Given the description of an element on the screen output the (x, y) to click on. 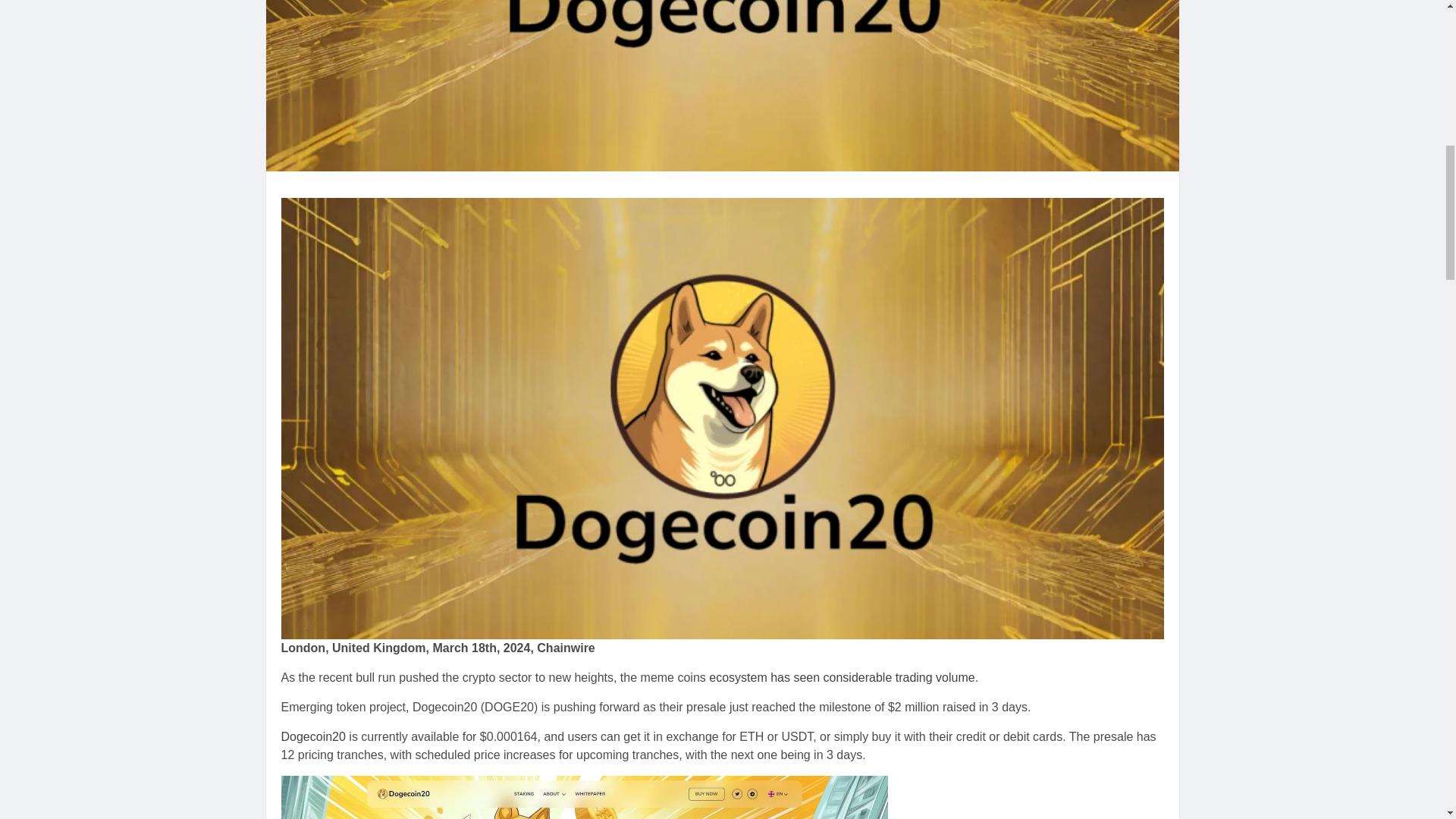
Dogecoin20 (313, 736)
ecosystem has seen considerable trading volume (841, 676)
